Given the description of an element on the screen output the (x, y) to click on. 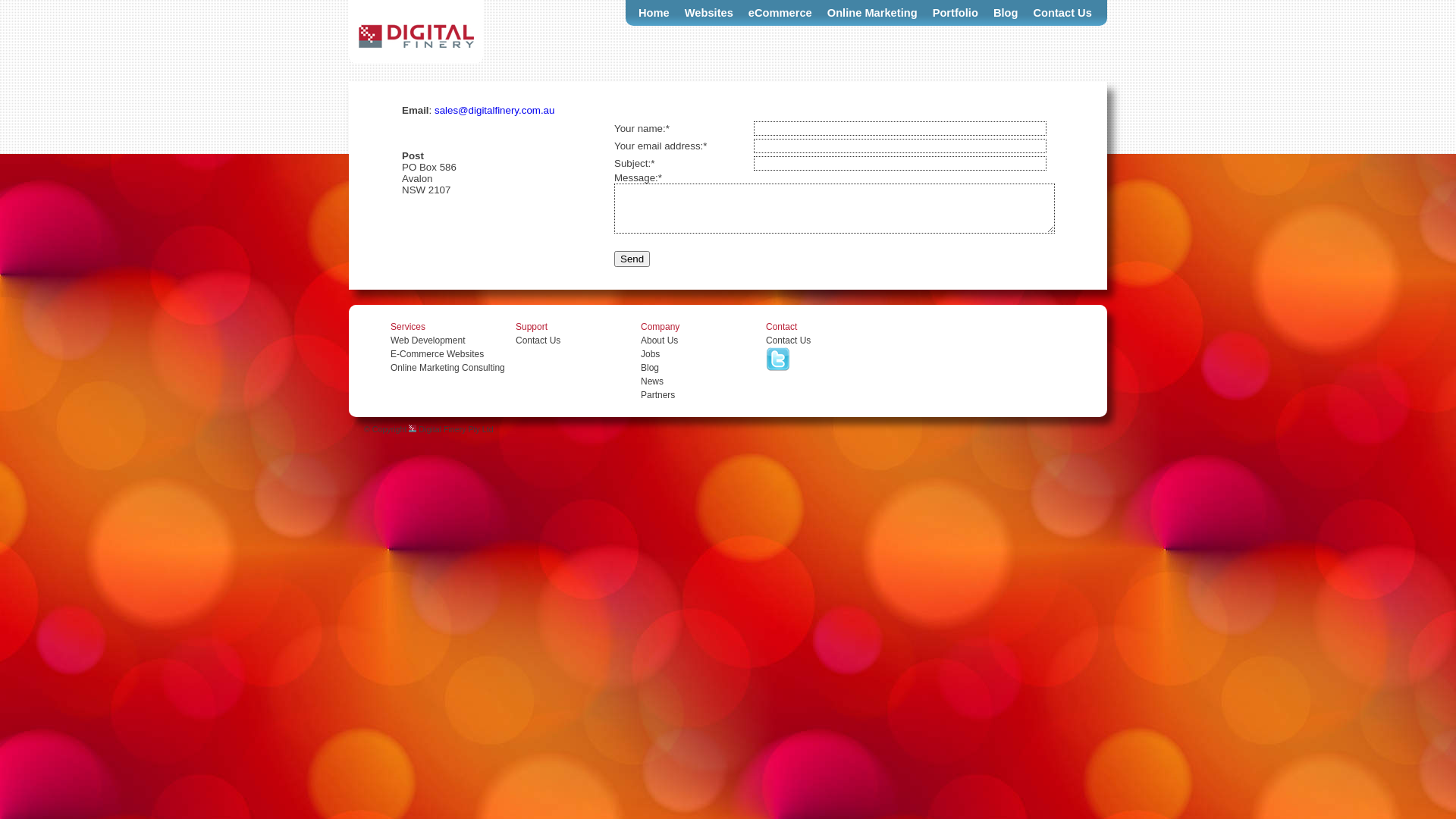
Contact Us Element type: text (787, 340)
Blog Element type: text (649, 367)
Web Development Element type: text (427, 340)
Online Marketing Consulting Element type: text (447, 367)
Home Element type: text (653, 12)
About Us Element type: text (658, 340)
Jobs Element type: text (649, 353)
Blog Element type: text (1005, 12)
eCommerce Element type: text (780, 12)
Online Marketing Element type: text (872, 12)
sales@digitalfinery.com.au Element type: text (494, 110)
Contact Us Element type: text (537, 340)
Partners Element type: text (657, 394)
Send Element type: text (631, 258)
E-Commerce Websites Element type: text (436, 353)
Portfolio Element type: text (955, 12)
Contact Us Element type: text (1061, 12)
Websites Element type: text (708, 12)
Website by Digital Finery Pty Ltd Element type: hover (412, 428)
News Element type: text (651, 381)
